Given the description of an element on the screen output the (x, y) to click on. 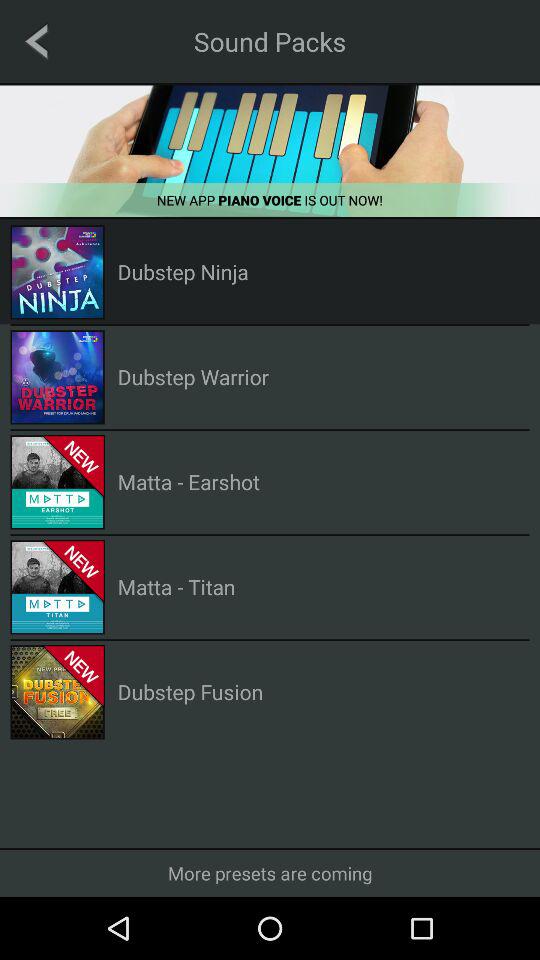
turn off the dubstep warrior app (192, 376)
